Given the description of an element on the screen output the (x, y) to click on. 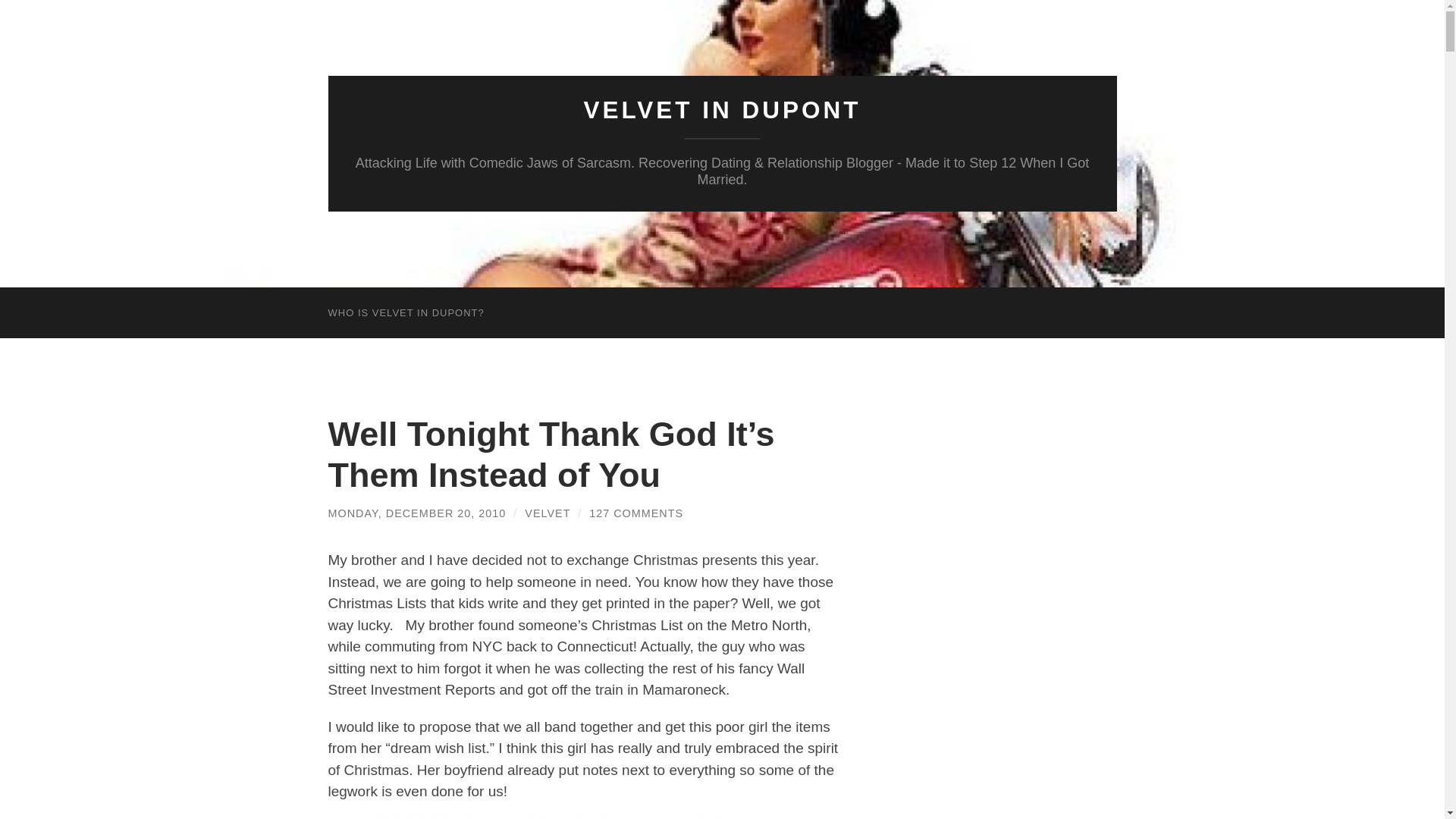
WHO IS VELVET IN DUPONT? (406, 311)
VELVET (547, 512)
Posts by Velvet (547, 512)
VELVET IN DUPONT (721, 109)
MONDAY, DECEMBER 20, 2010 (416, 512)
127 COMMENTS (635, 512)
